Given the description of an element on the screen output the (x, y) to click on. 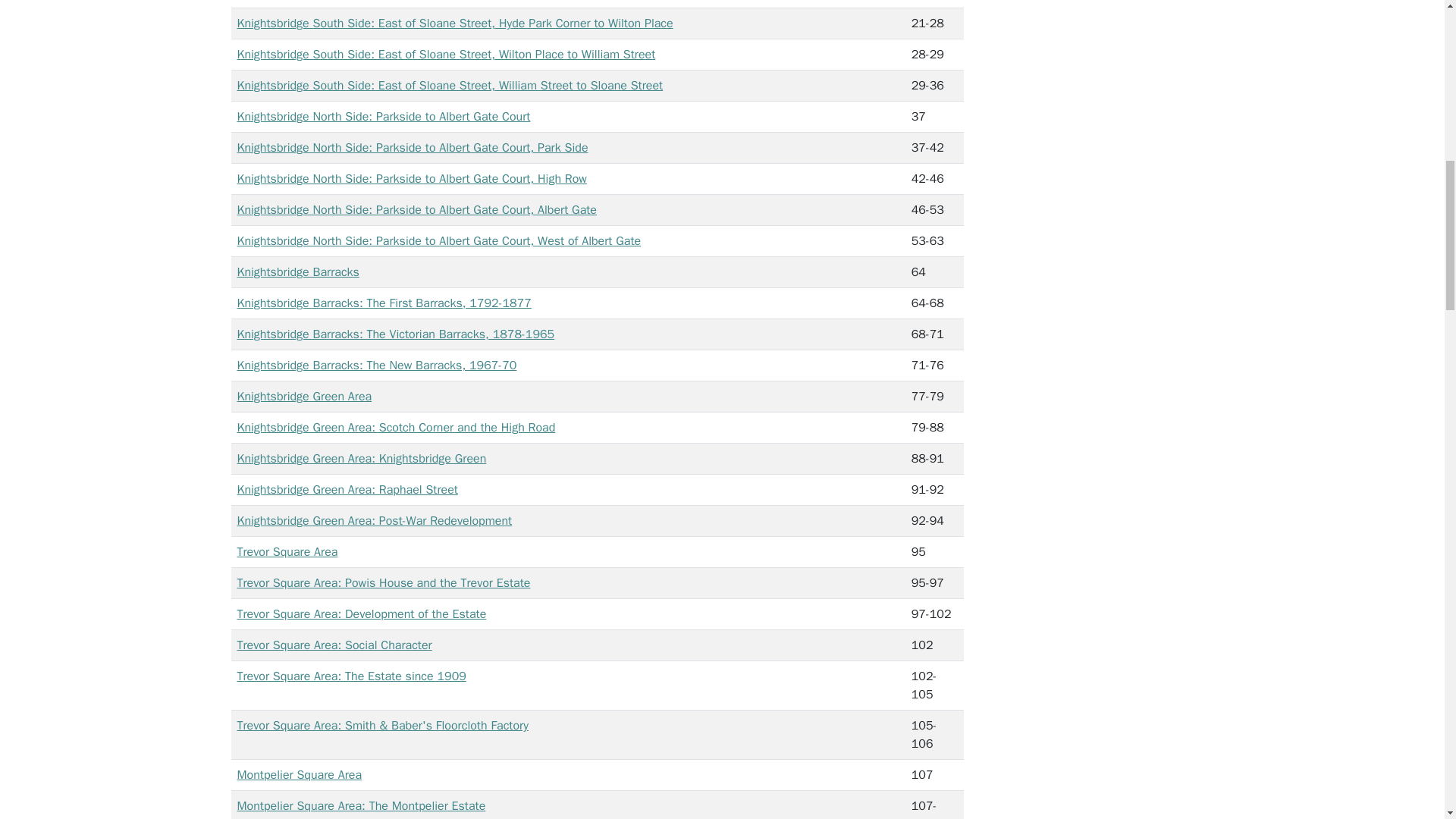
Trevor Square Area (286, 551)
Knightsbridge North Side: Parkside to Albert Gate Court (382, 116)
Knightsbridge Green Area: Scotch Corner and the High Road (394, 427)
Knightsbridge Barracks (296, 272)
Knightsbridge Green Area: Raphael Street (346, 489)
Knightsbridge Barracks: The First Barracks, 1792-1877 (383, 303)
Knightsbridge Barracks: The Victorian Barracks, 1878-1965 (394, 334)
Knightsbridge Green Area (303, 396)
Knightsbridge Green Area: Post-War Redevelopment (373, 520)
